Given the description of an element on the screen output the (x, y) to click on. 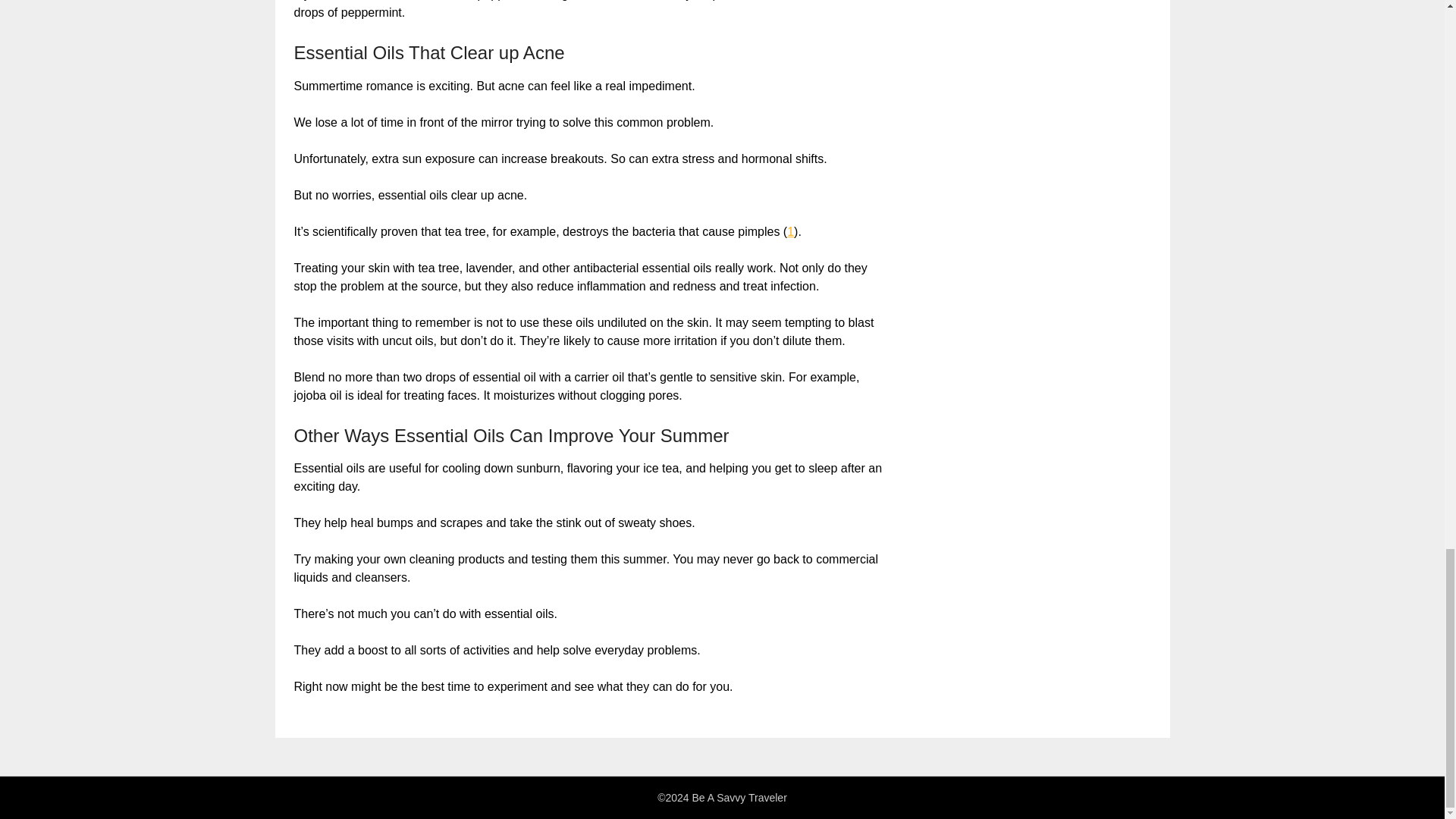
1 (790, 231)
